Given the description of an element on the screen output the (x, y) to click on. 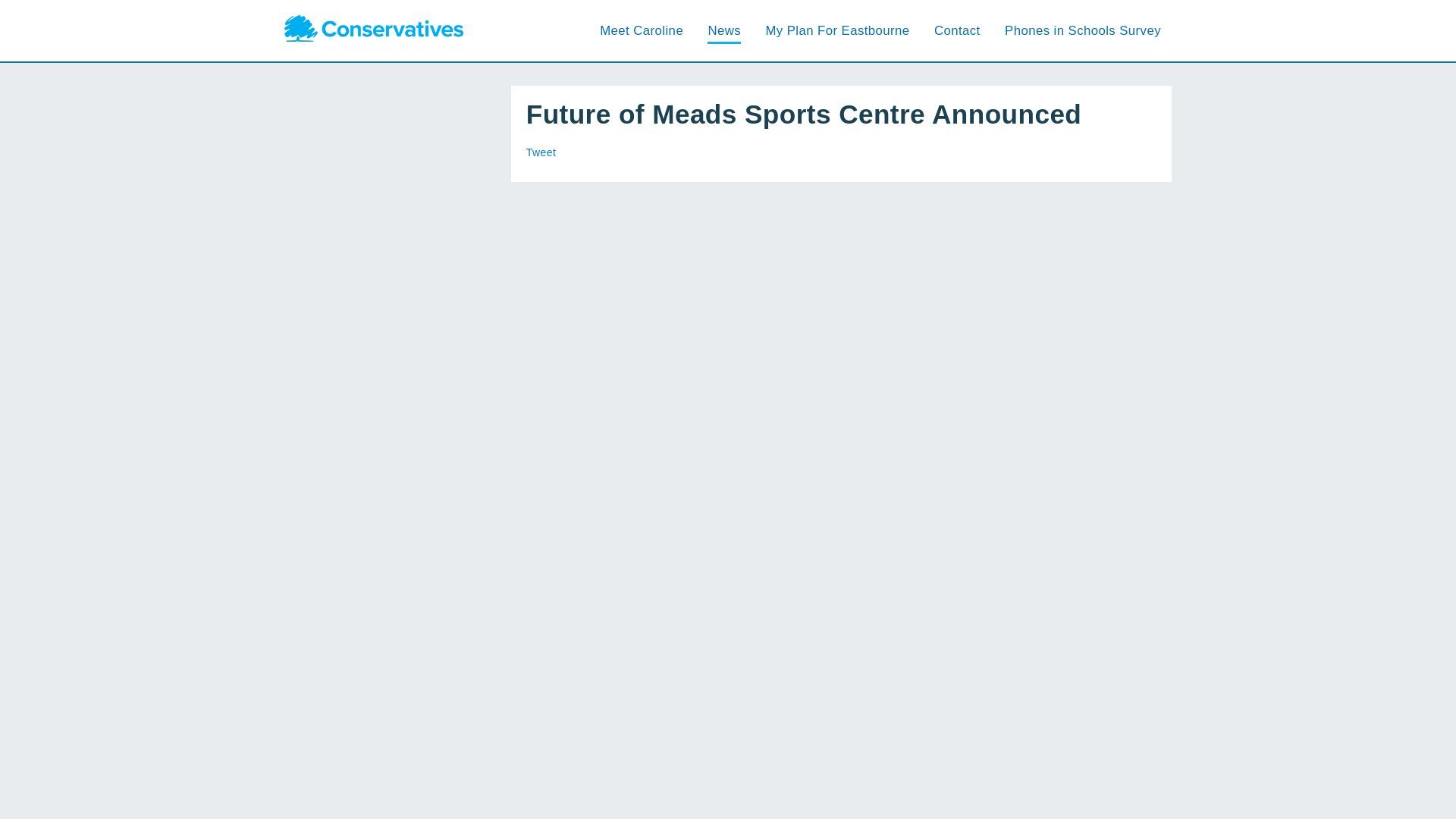
My Plan For Eastbourne (836, 30)
News (724, 30)
Phones in Schools Survey (1082, 30)
Meet Caroline (640, 30)
Contact (956, 30)
Tweet (540, 152)
About Caroline (640, 30)
Phones in Schools Survey (1082, 30)
